Given the description of an element on the screen output the (x, y) to click on. 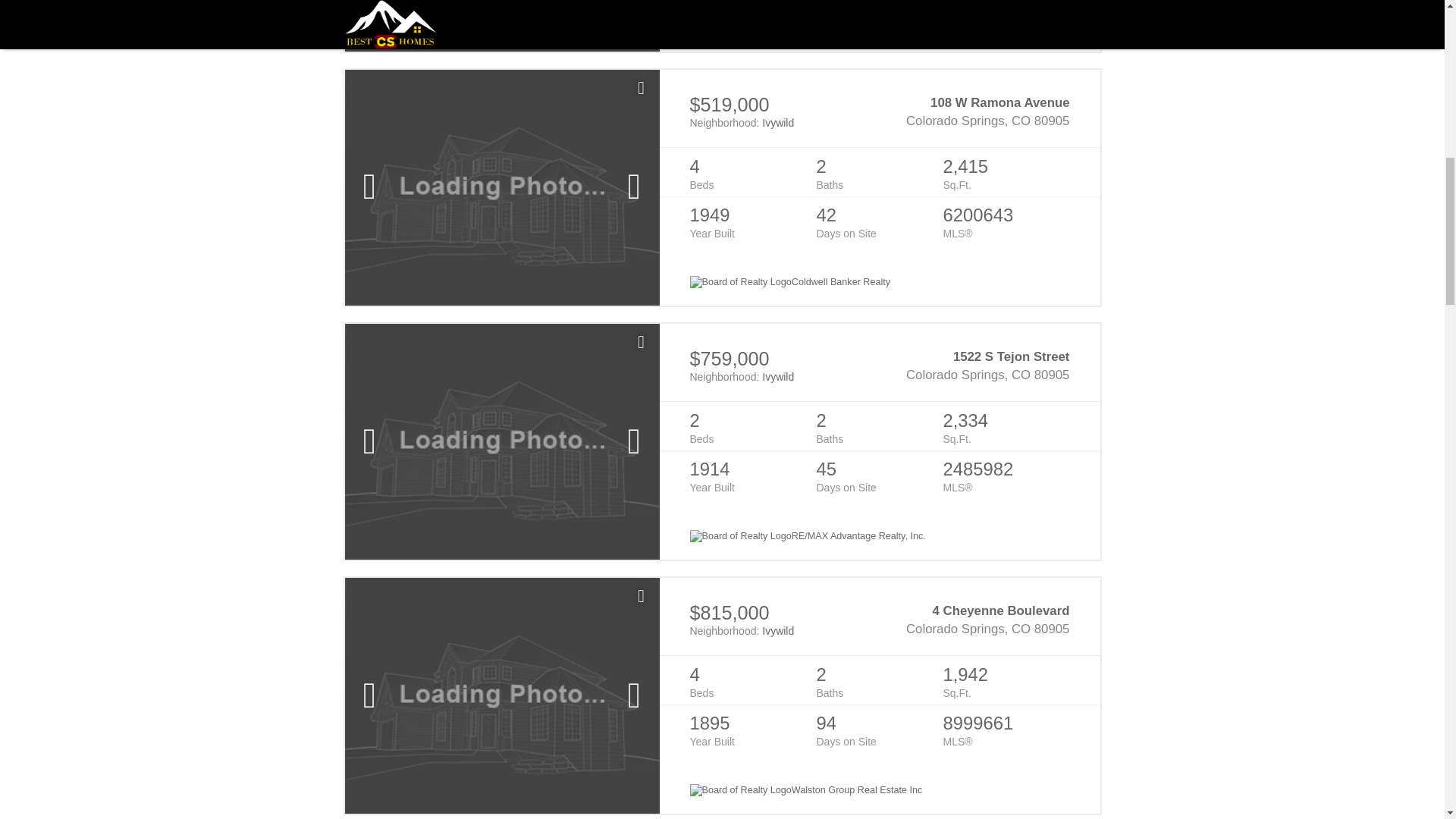
108 W Ramona Avenue Colorado Springs,  CO 80905 (973, 112)
